Given the description of an element on the screen output the (x, y) to click on. 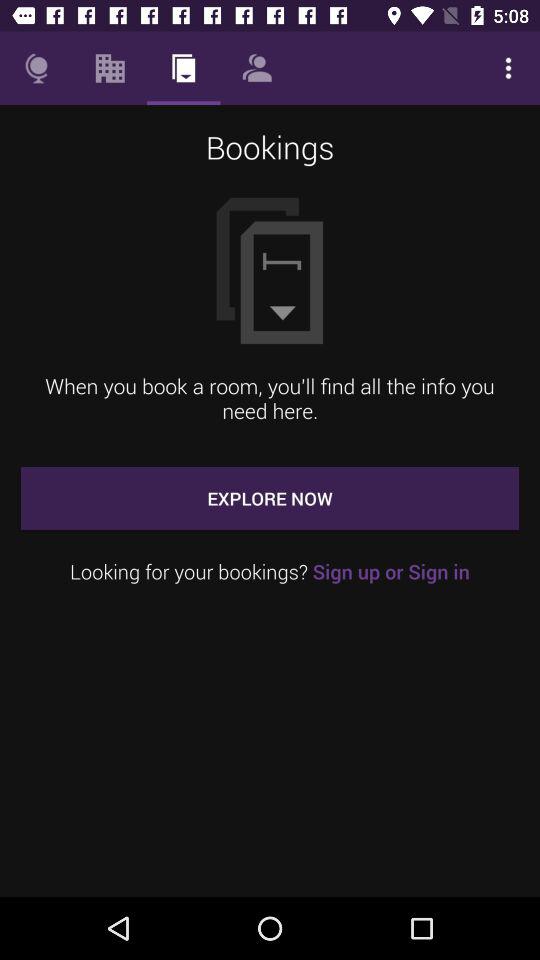
tap icon above bookings icon (508, 67)
